Given the description of an element on the screen output the (x, y) to click on. 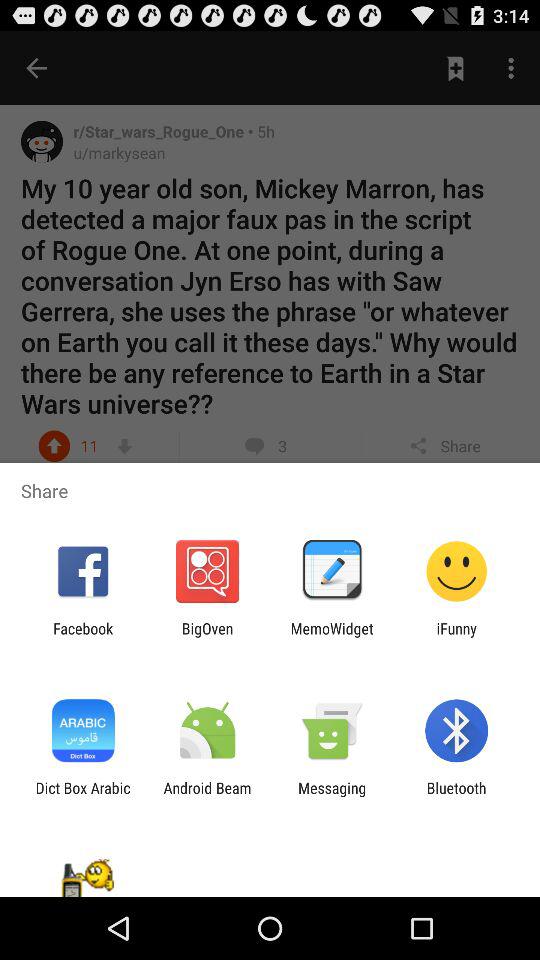
click the app to the right of the dict box arabic item (207, 796)
